Given the description of an element on the screen output the (x, y) to click on. 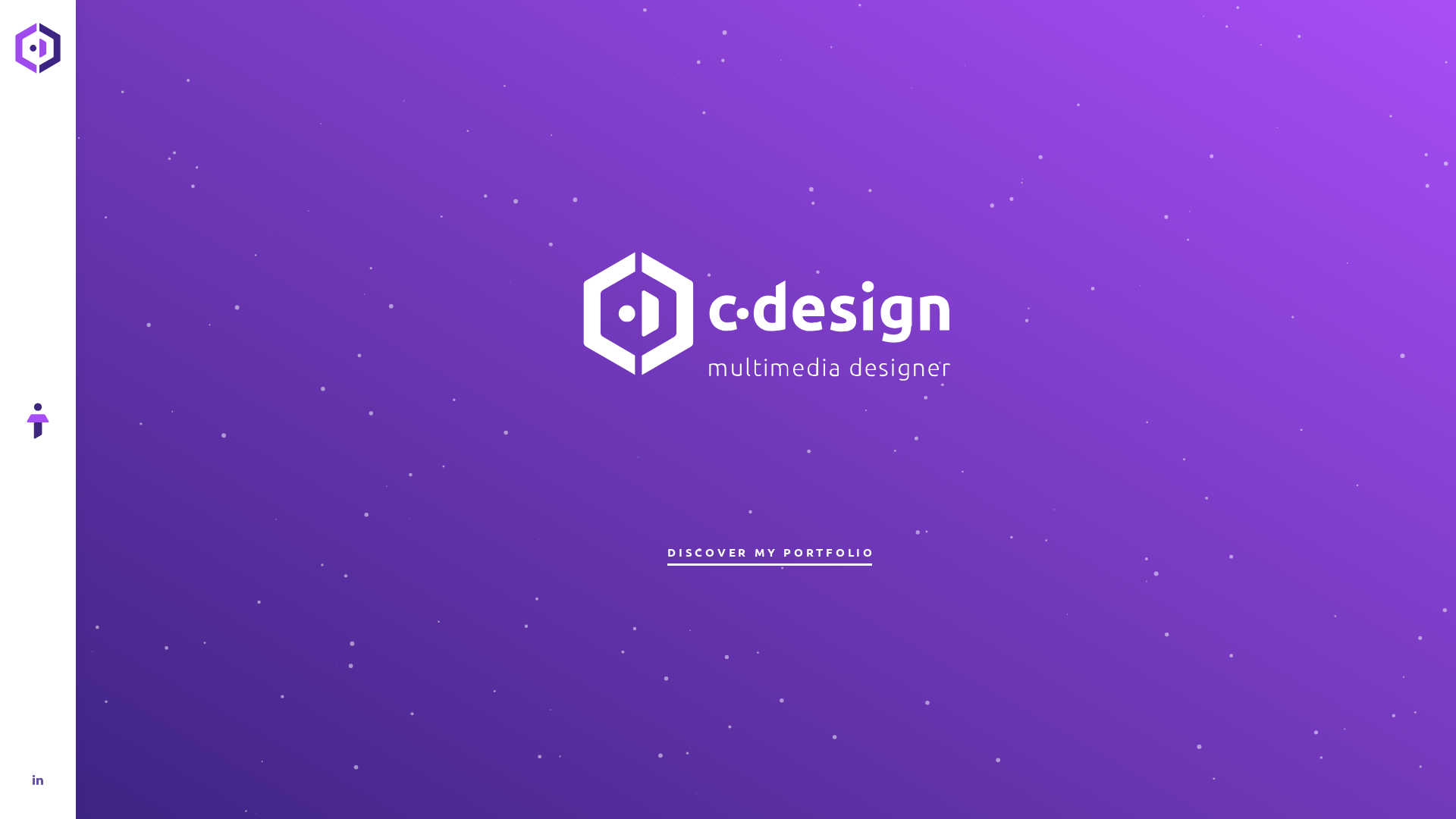
DISCOVER MY PORTFOLIO Element type: text (769, 551)
